Given the description of an element on the screen output the (x, y) to click on. 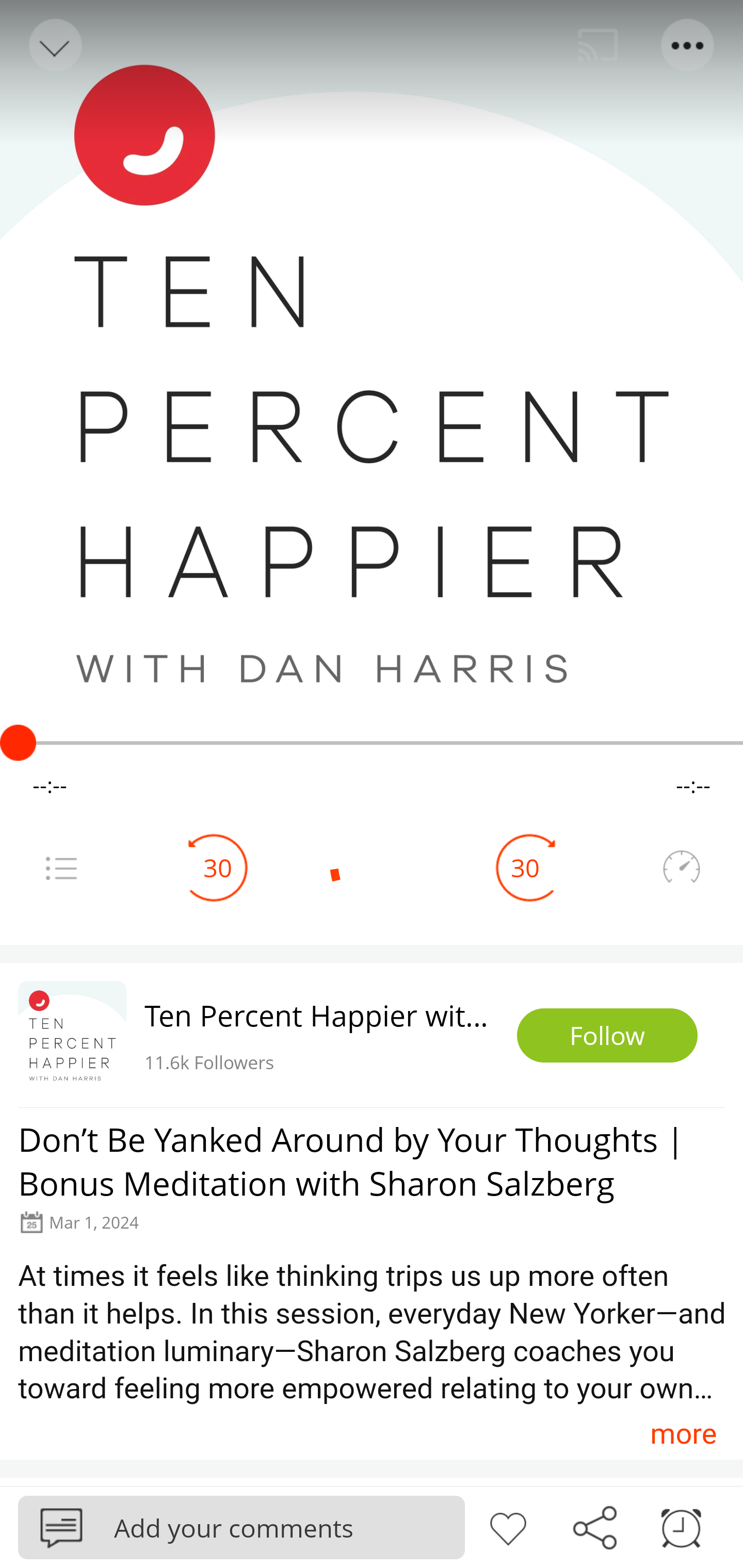
Back (53, 45)
Cast. Disconnected (597, 45)
Menu (688, 45)
30 Seek Backward (217, 867)
30 Seek Forward (525, 867)
Menu (60, 867)
Speedometer (681, 867)
Follow (607, 1035)
more (682, 1432)
Like (508, 1526)
Share (594, 1526)
Sleep timer (681, 1526)
Podbean Add your comments (241, 1526)
